Given the description of an element on the screen output the (x, y) to click on. 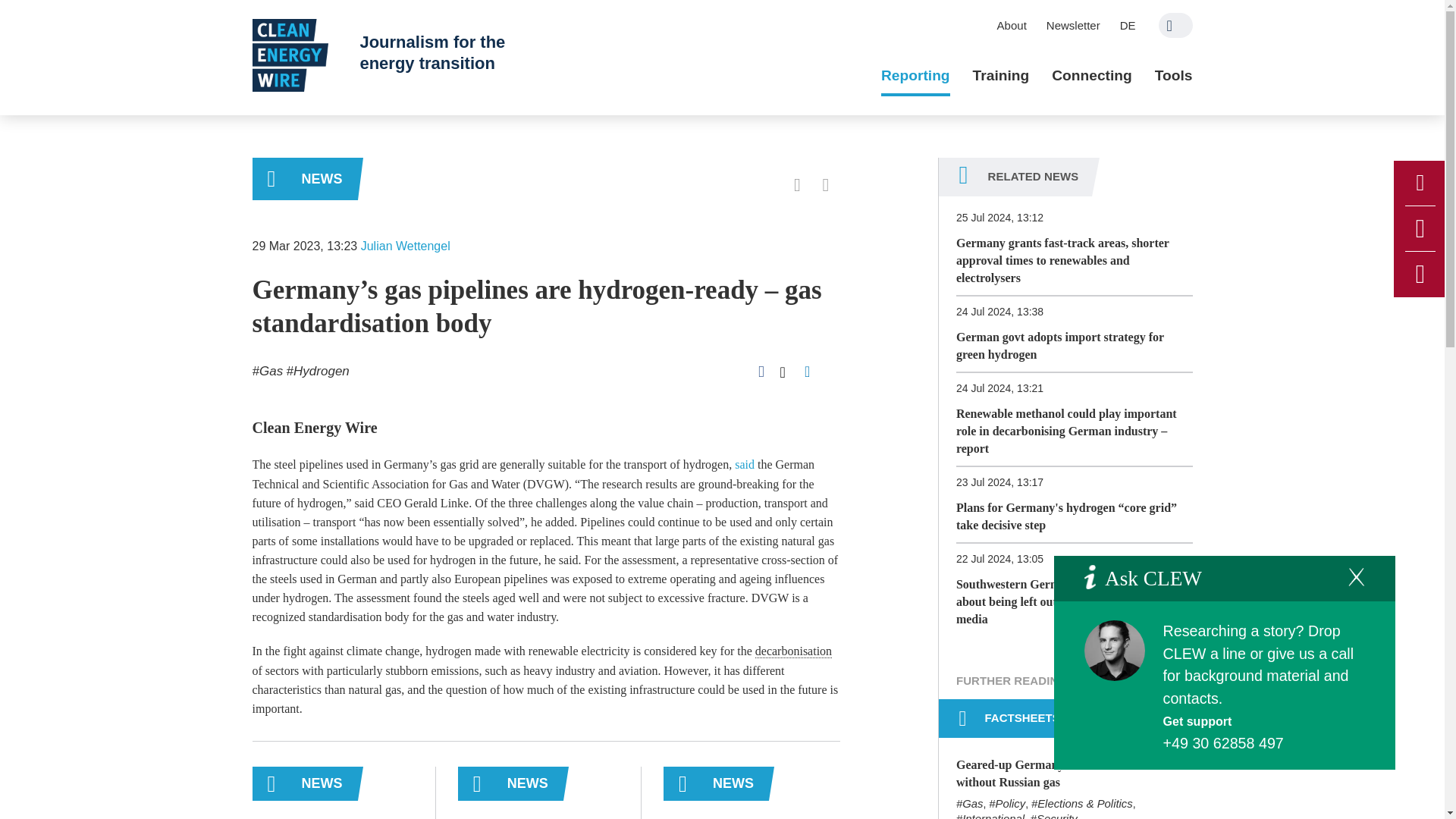
Reporting (915, 75)
NEWS (303, 178)
Hydrogen (317, 370)
Gas (266, 370)
Training (1000, 75)
Tools (1173, 75)
said (744, 463)
About (1011, 25)
Connecting (1091, 75)
Newsletter (1072, 25)
DE (1127, 25)
Julian Wettengel (405, 245)
Search (1175, 25)
